Given the description of an element on the screen output the (x, y) to click on. 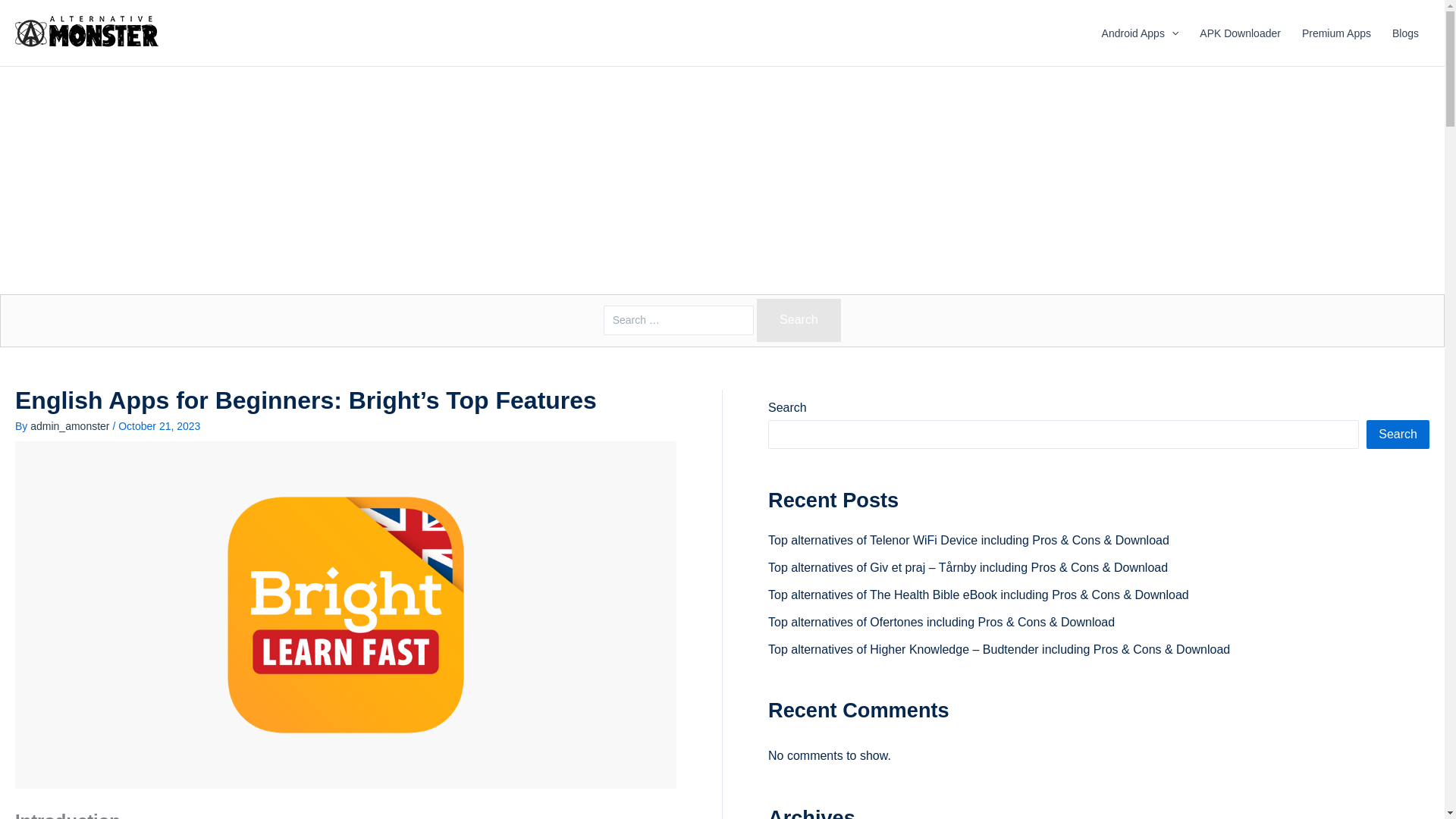
Android Apps (1139, 33)
APK Downloader (1240, 33)
Search (799, 320)
Search (799, 320)
Search (799, 320)
Premium Apps (1336, 33)
